Given the description of an element on the screen output the (x, y) to click on. 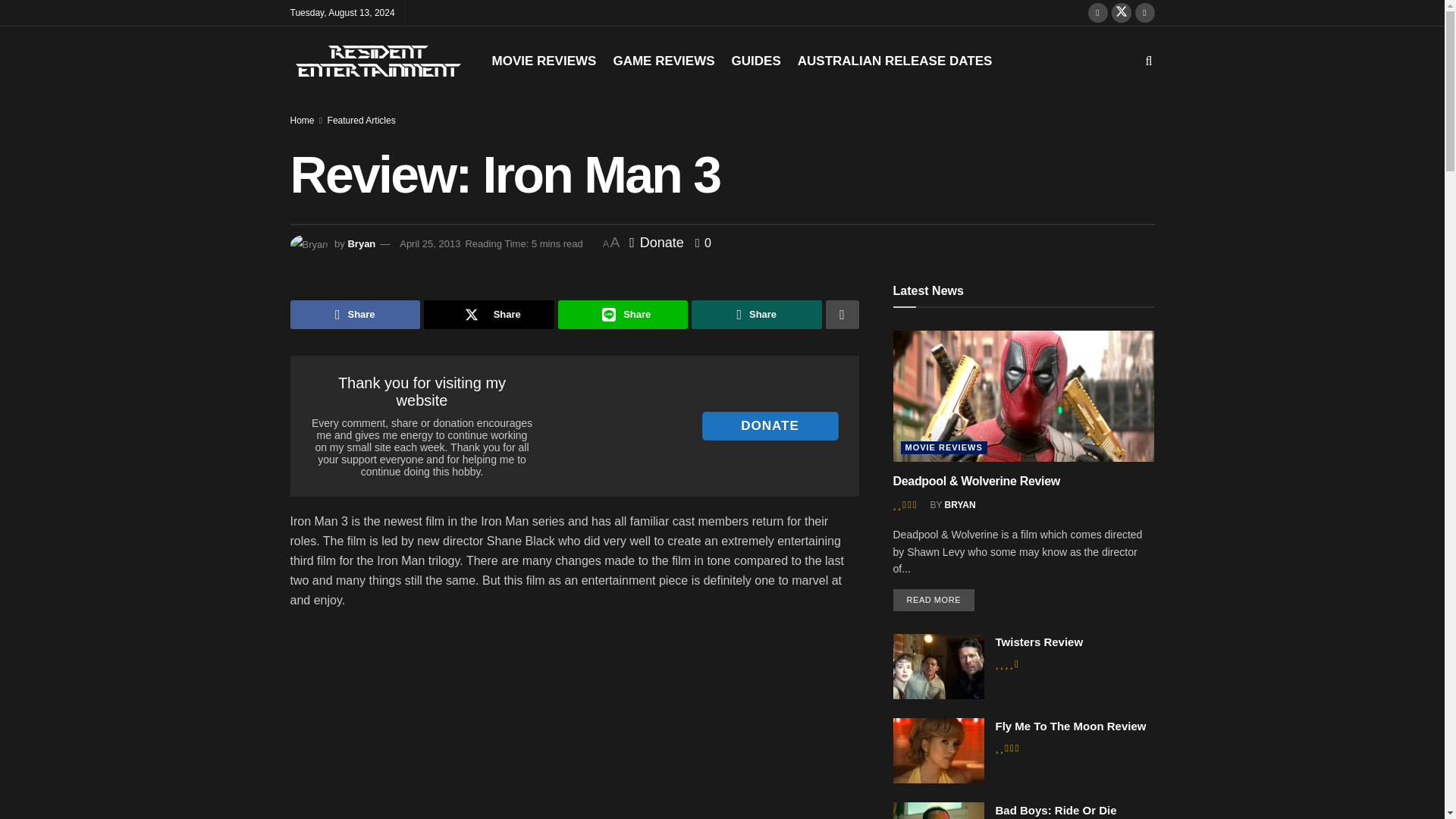
Bryan (361, 243)
Share (354, 314)
GAME REVIEWS (663, 61)
April 25, 2013 (429, 243)
MOVIE REVIEWS (543, 61)
GUIDES (756, 61)
Donate (656, 242)
AUSTRALIAN RELEASE DATES (894, 61)
Share (488, 314)
Featured Articles (361, 120)
